Given the description of an element on the screen output the (x, y) to click on. 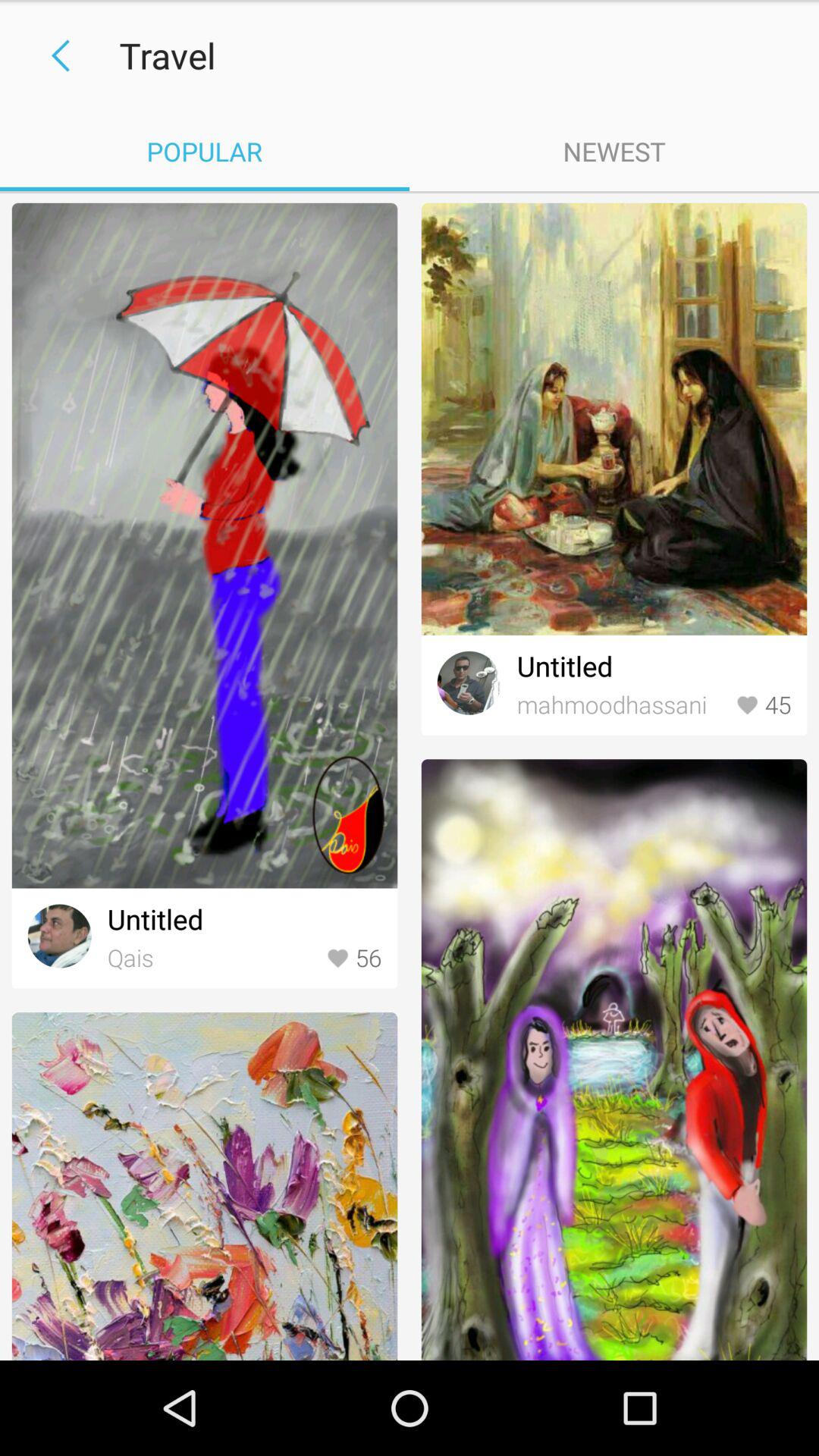
scroll to 56 icon (353, 958)
